Given the description of an element on the screen output the (x, y) to click on. 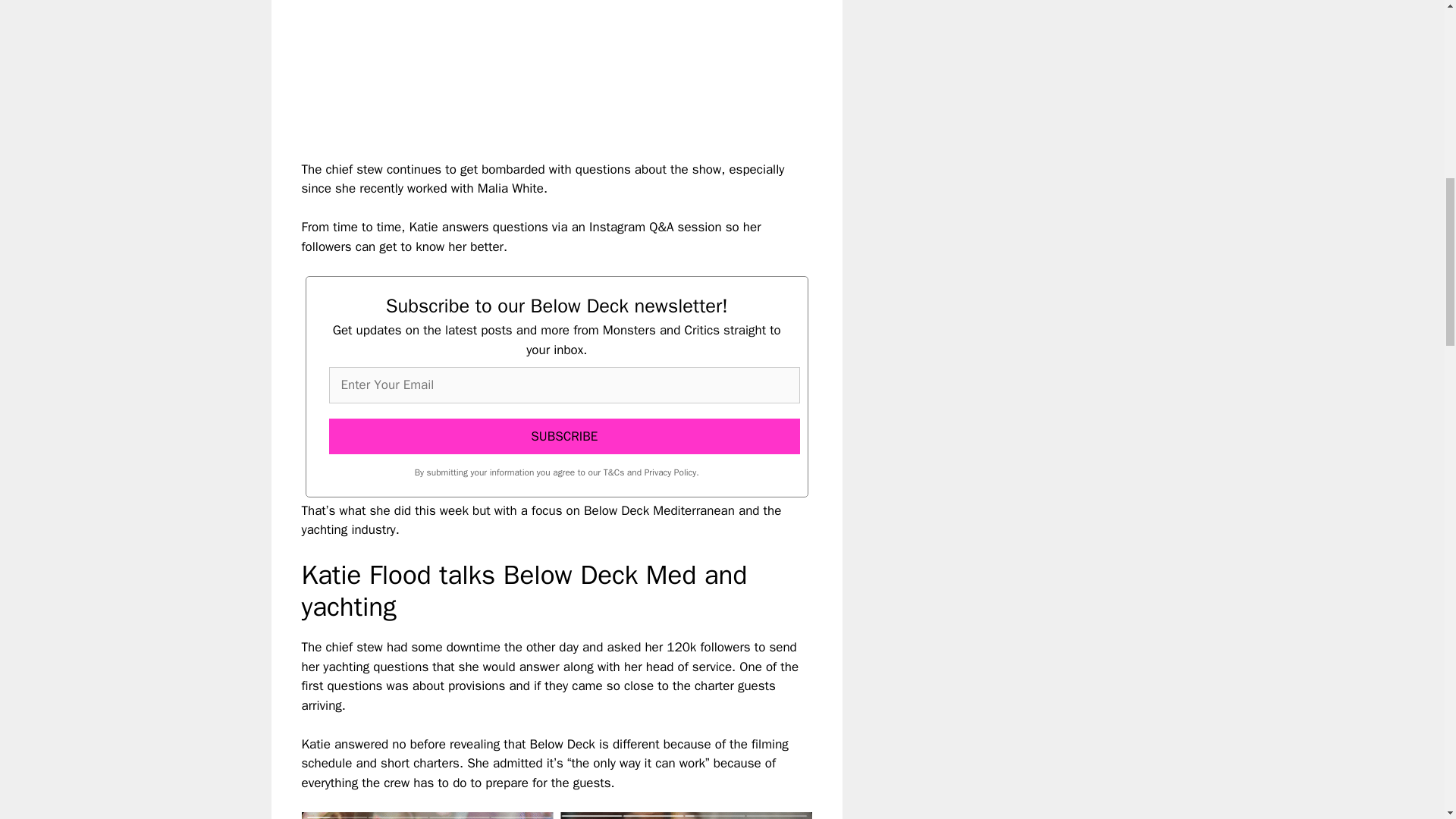
YouTube video player (513, 67)
SUBSCRIBE (564, 436)
SUBSCRIBE (564, 436)
